Given the description of an element on the screen output the (x, y) to click on. 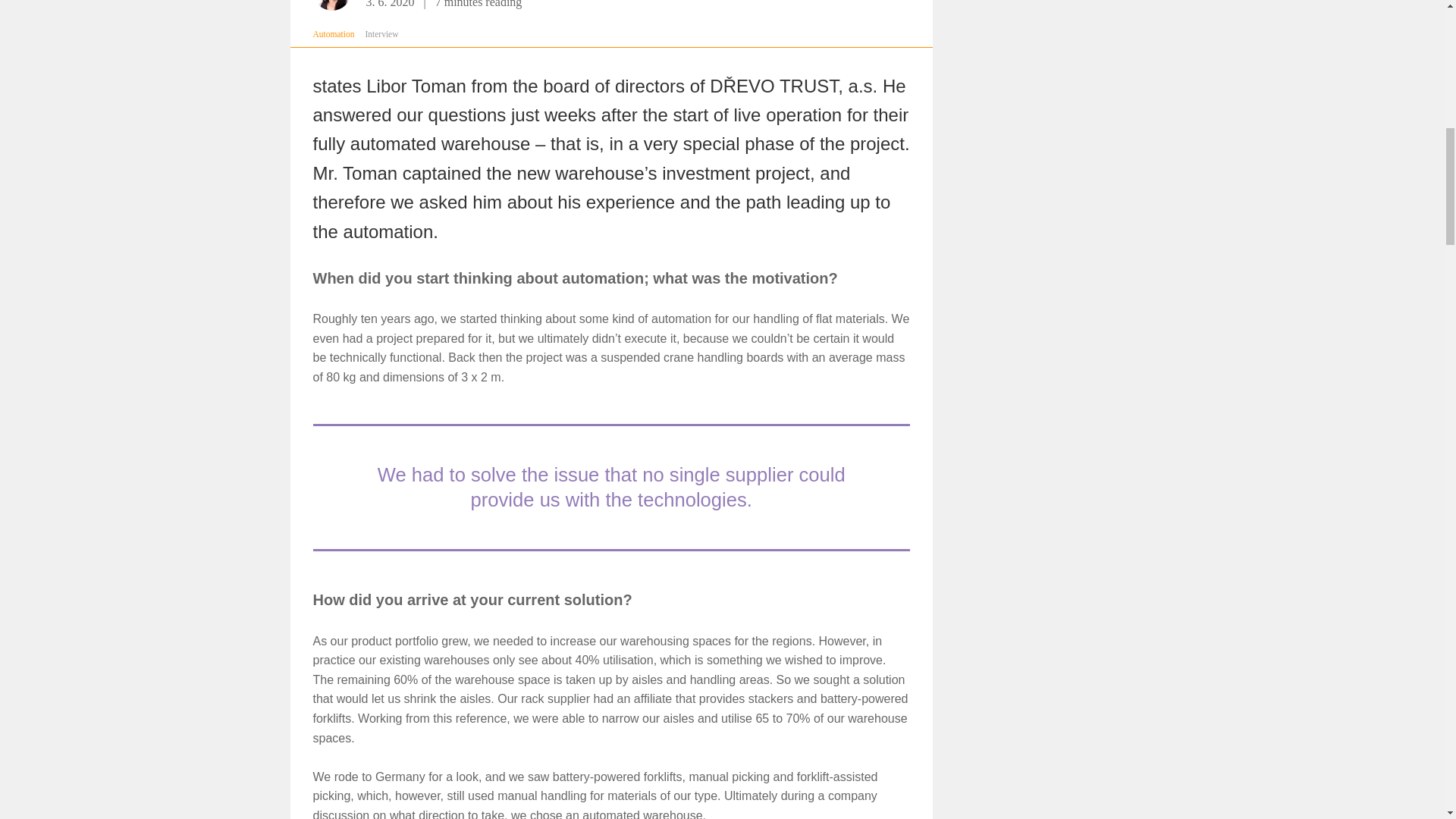
Automation (333, 33)
